Given the description of an element on the screen output the (x, y) to click on. 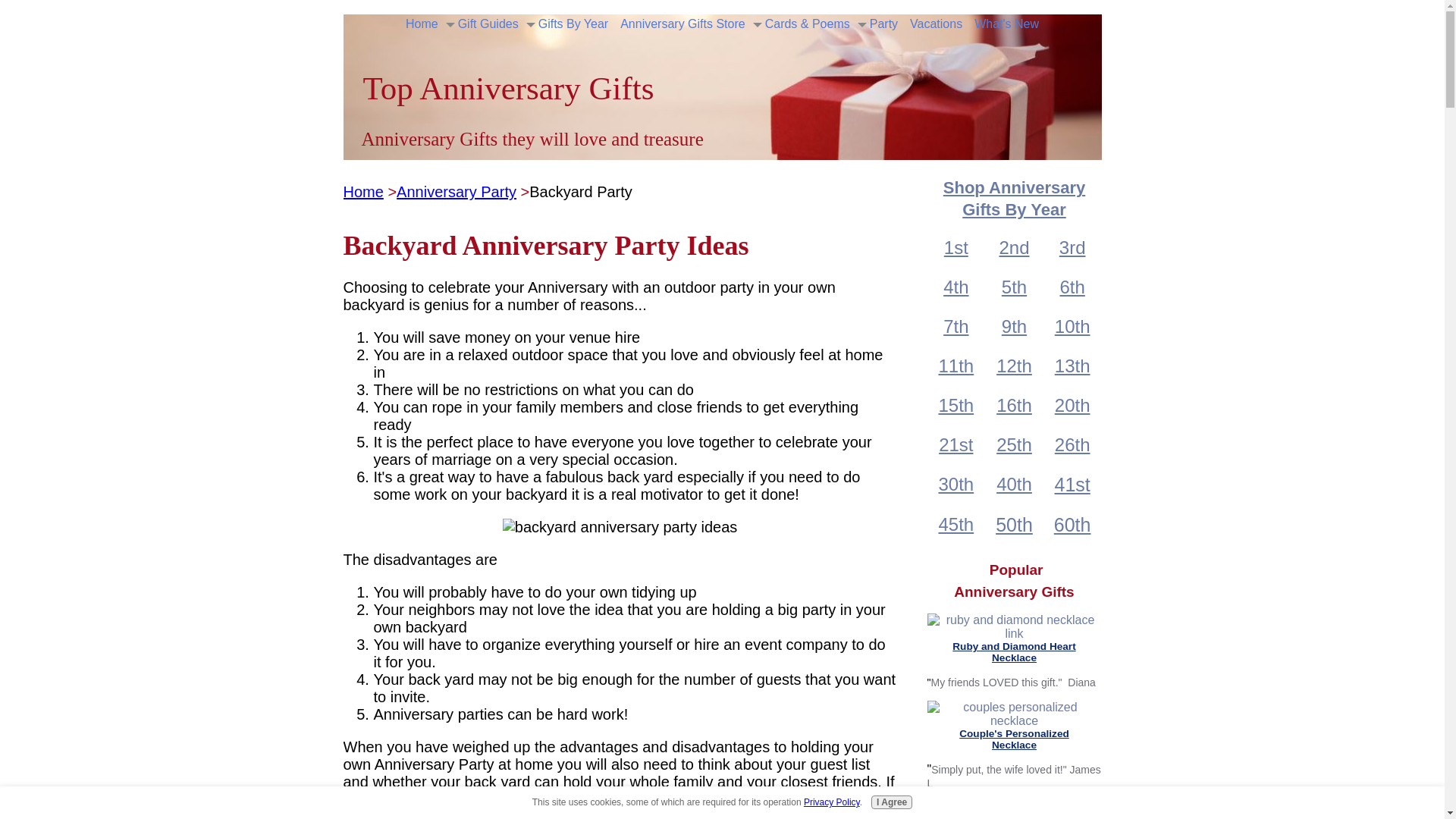
Home (421, 24)
couples personalized necklace (1013, 714)
ruby and diamond necklace link (1013, 626)
Anniversary Jigsaw Puzzle (1014, 810)
backyard anniversary party ideas (619, 527)
Top Anniversary Gifts (507, 88)
